Given the description of an element on the screen output the (x, y) to click on. 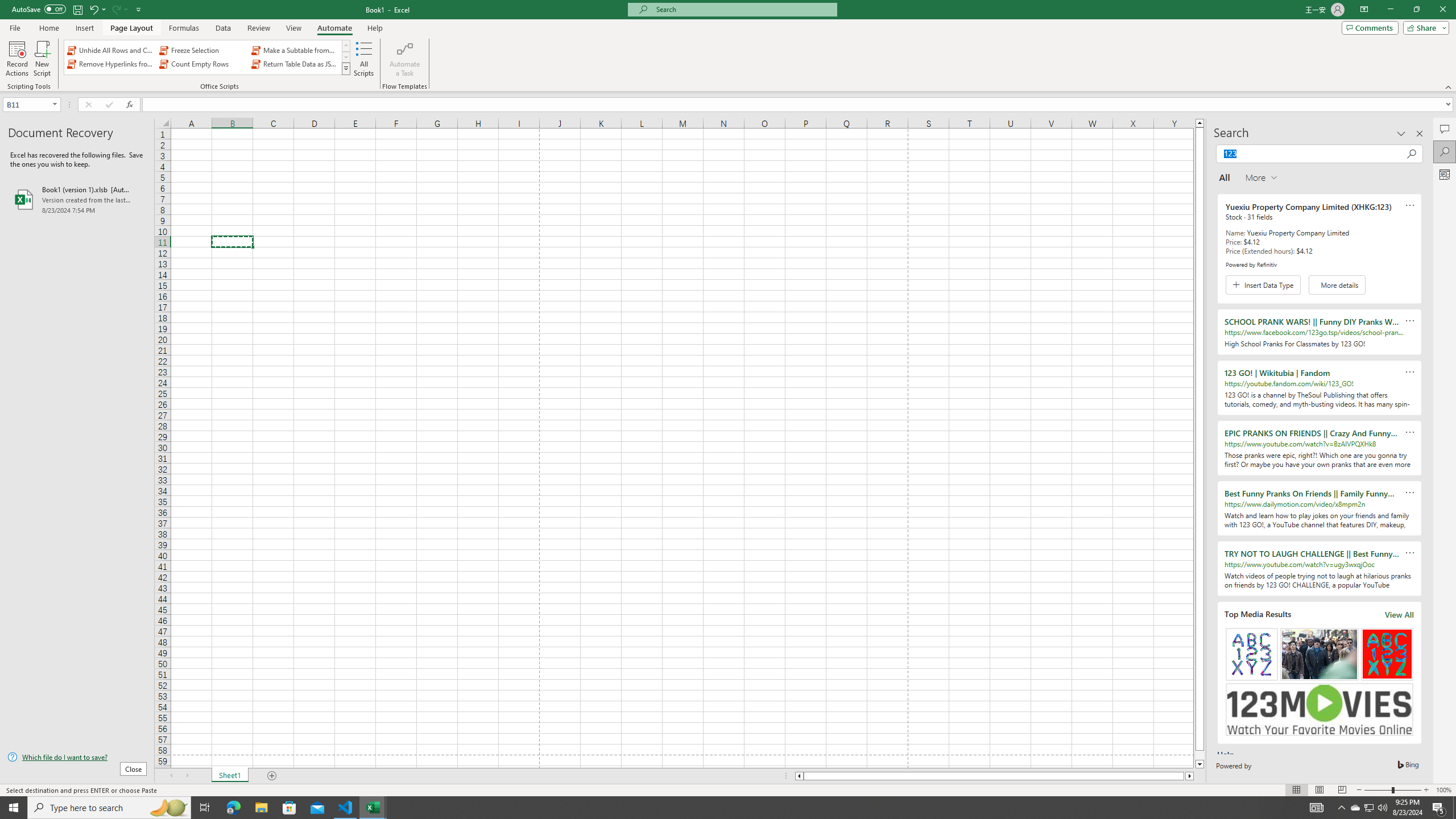
Remove Hyperlinks from Sheet (111, 64)
Automate a Task (404, 58)
